Given the description of an element on the screen output the (x, y) to click on. 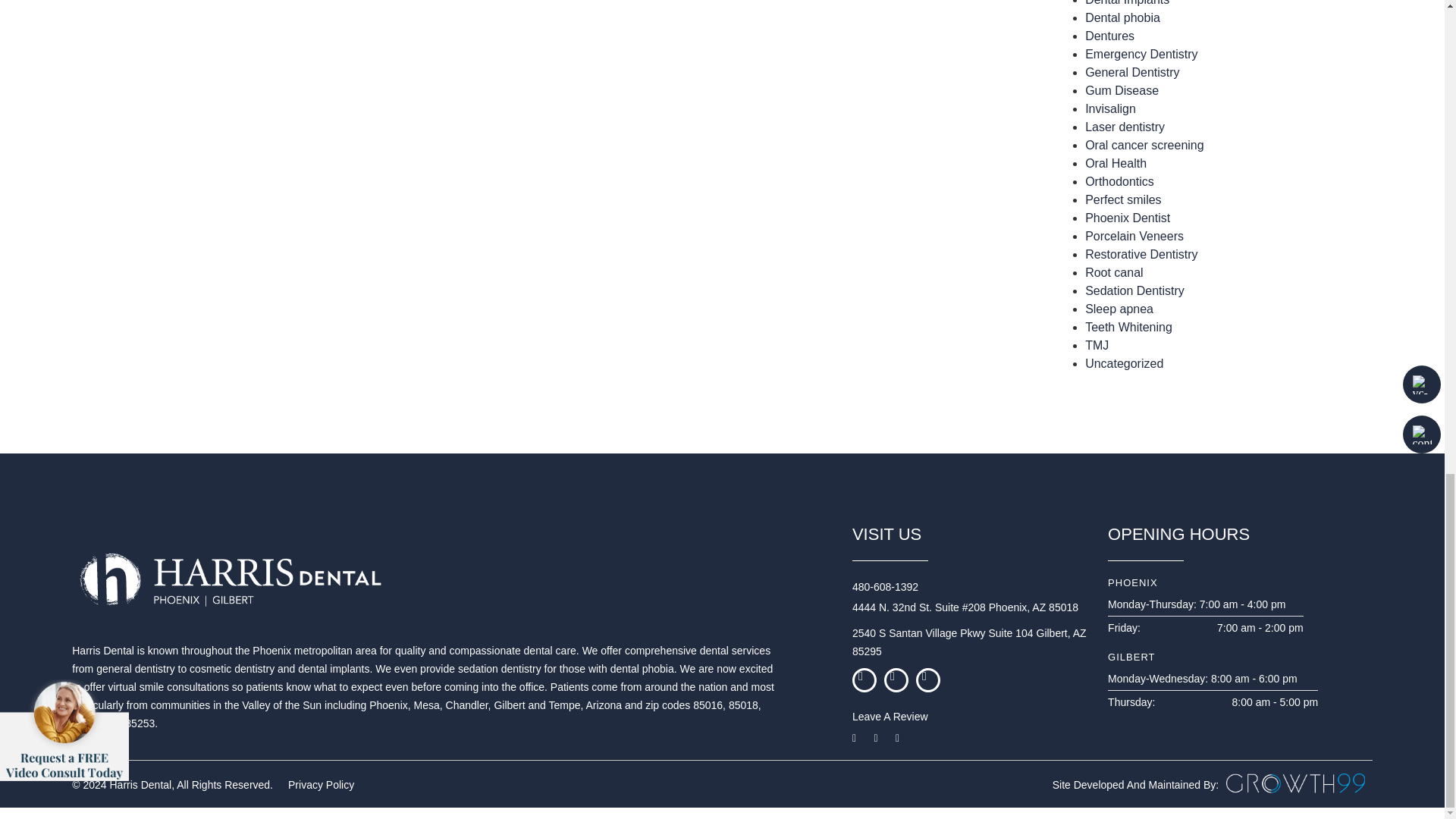
480-608-1392 (910, 587)
